Given the description of an element on the screen output the (x, y) to click on. 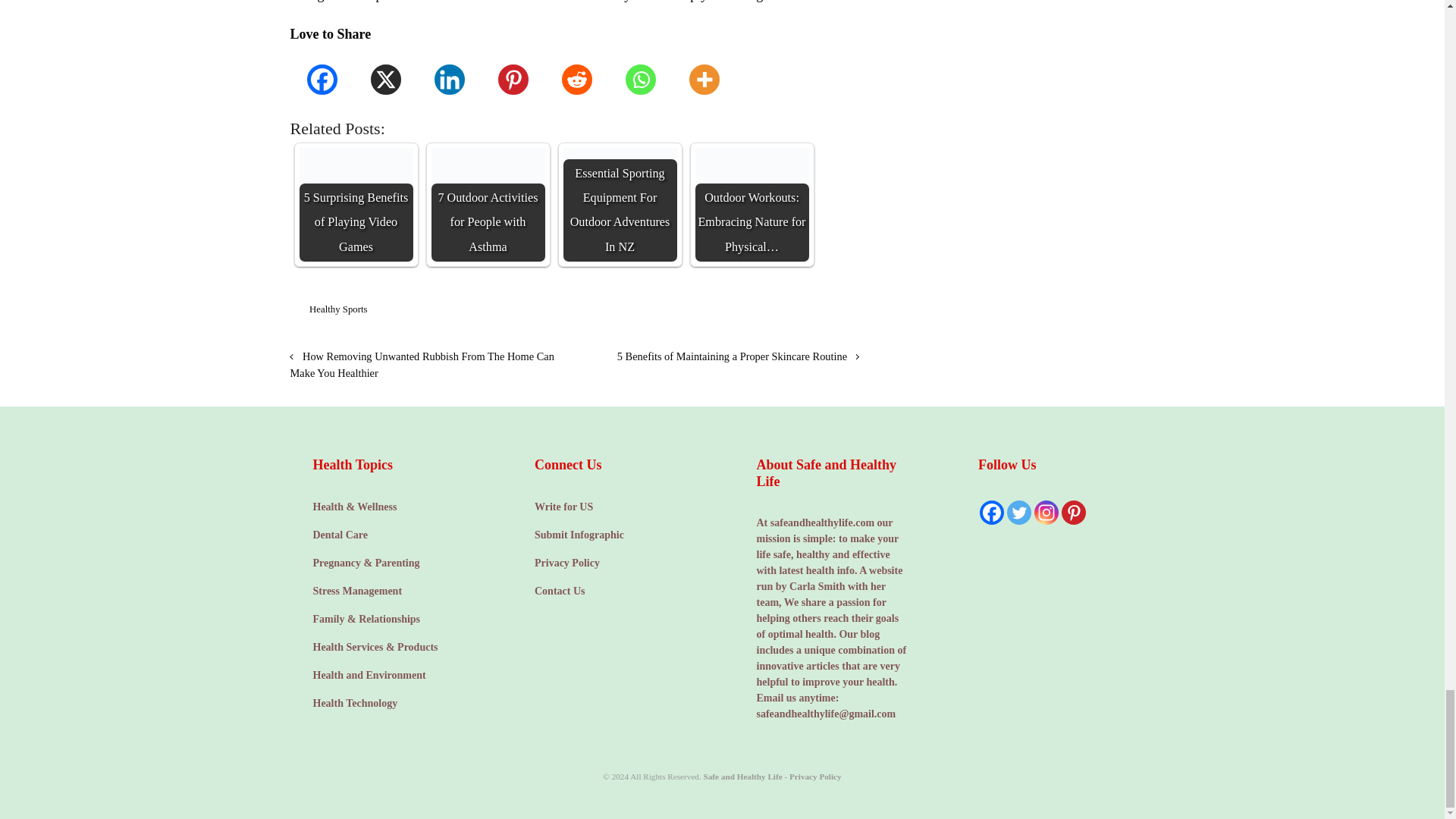
5 Surprising Benefits of Playing Video Games (355, 204)
Facebook (321, 79)
X (384, 79)
5 Surprising Benefits of Playing Video Games (355, 204)
7 Outdoor Activities for People with Asthma (487, 204)
7 Outdoor Activities for People with Asthma (487, 204)
Share on Twitter (764, 313)
Essential Sporting Equipment For Outdoor Adventures In NZ (619, 204)
Essential Sporting Equipment For Outdoor Adventures In NZ (619, 204)
Reddit (576, 79)
